Given the description of an element on the screen output the (x, y) to click on. 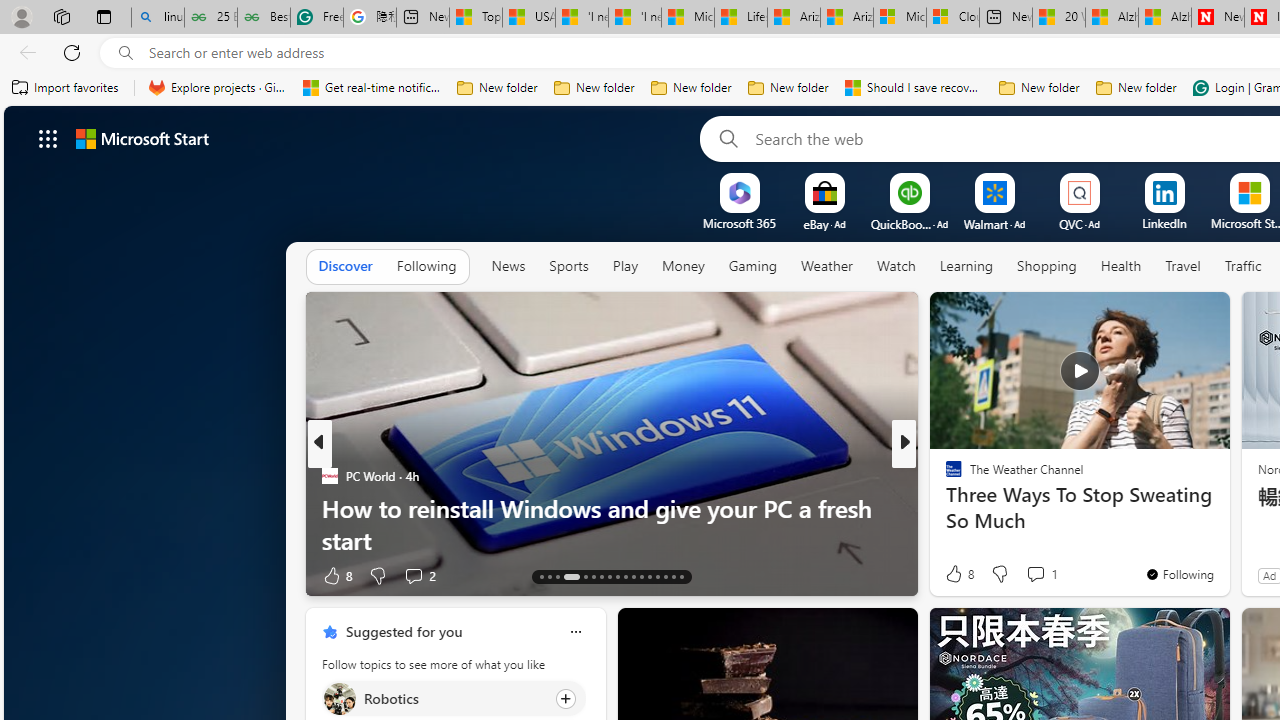
Travel (1183, 265)
Weather (826, 267)
AutomationID: tab-15 (556, 576)
View comments 36 Comment (1042, 575)
News (507, 265)
Start the conversation (1035, 574)
Body Network (944, 507)
2k Like (955, 574)
Gaming (752, 265)
View comments 7 Comment (1041, 574)
AutomationID: tab-23 (632, 576)
Free AI Writing Assistance for Students | Grammarly (316, 17)
